Given the description of an element on the screen output the (x, y) to click on. 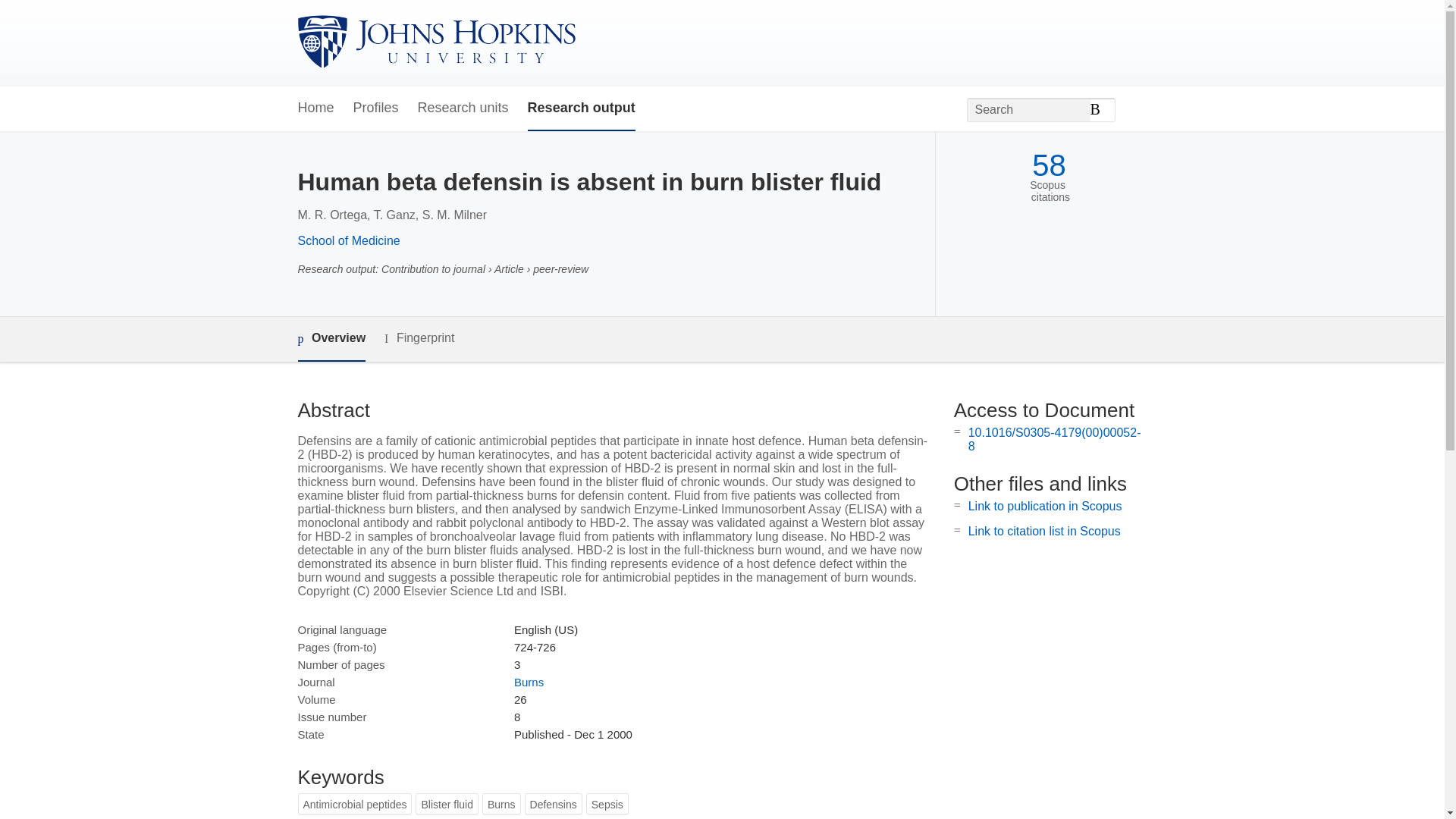
Link to citation list in Scopus (1044, 530)
Overview (331, 338)
58 (1048, 165)
Johns Hopkins University Home (436, 43)
Burns (528, 681)
Link to publication in Scopus (1045, 505)
Research units (462, 108)
Fingerprint (419, 338)
School of Medicine (347, 240)
Research output (580, 108)
Profiles (375, 108)
